Given the description of an element on the screen output the (x, y) to click on. 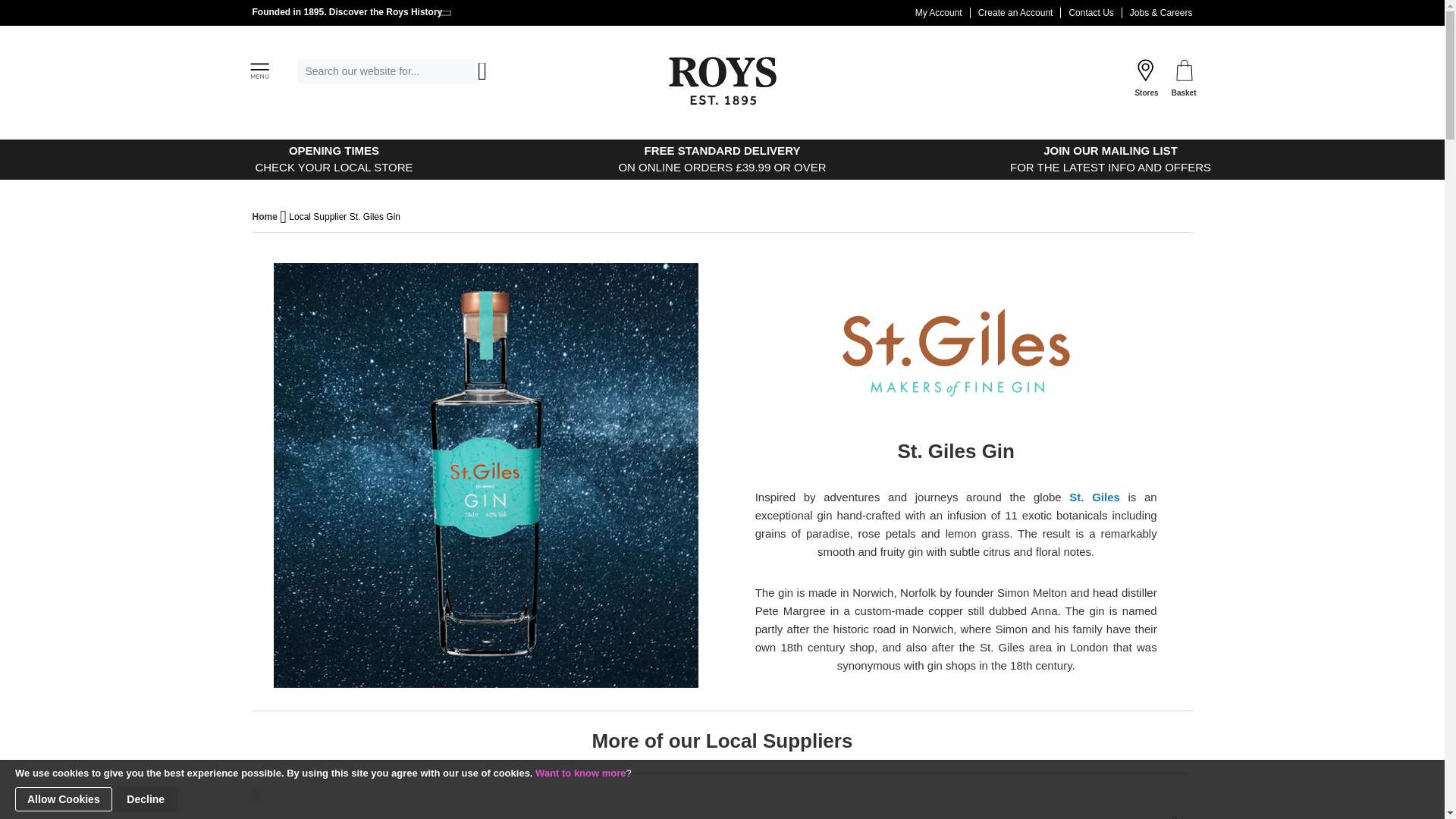
Want to know more (580, 772)
Stores (1145, 78)
My Account (939, 12)
Decline (145, 799)
Join our mailing list (1110, 159)
on (256, 795)
Find your nearest Roys opening times (333, 159)
Find out more about delivery (333, 159)
Create an Account (721, 159)
Contact Us (1016, 12)
Basket (1091, 12)
Founded in 1895. Discover the Roys History (1184, 78)
Search (346, 11)
Allow Cookies (480, 70)
